Given the description of an element on the screen output the (x, y) to click on. 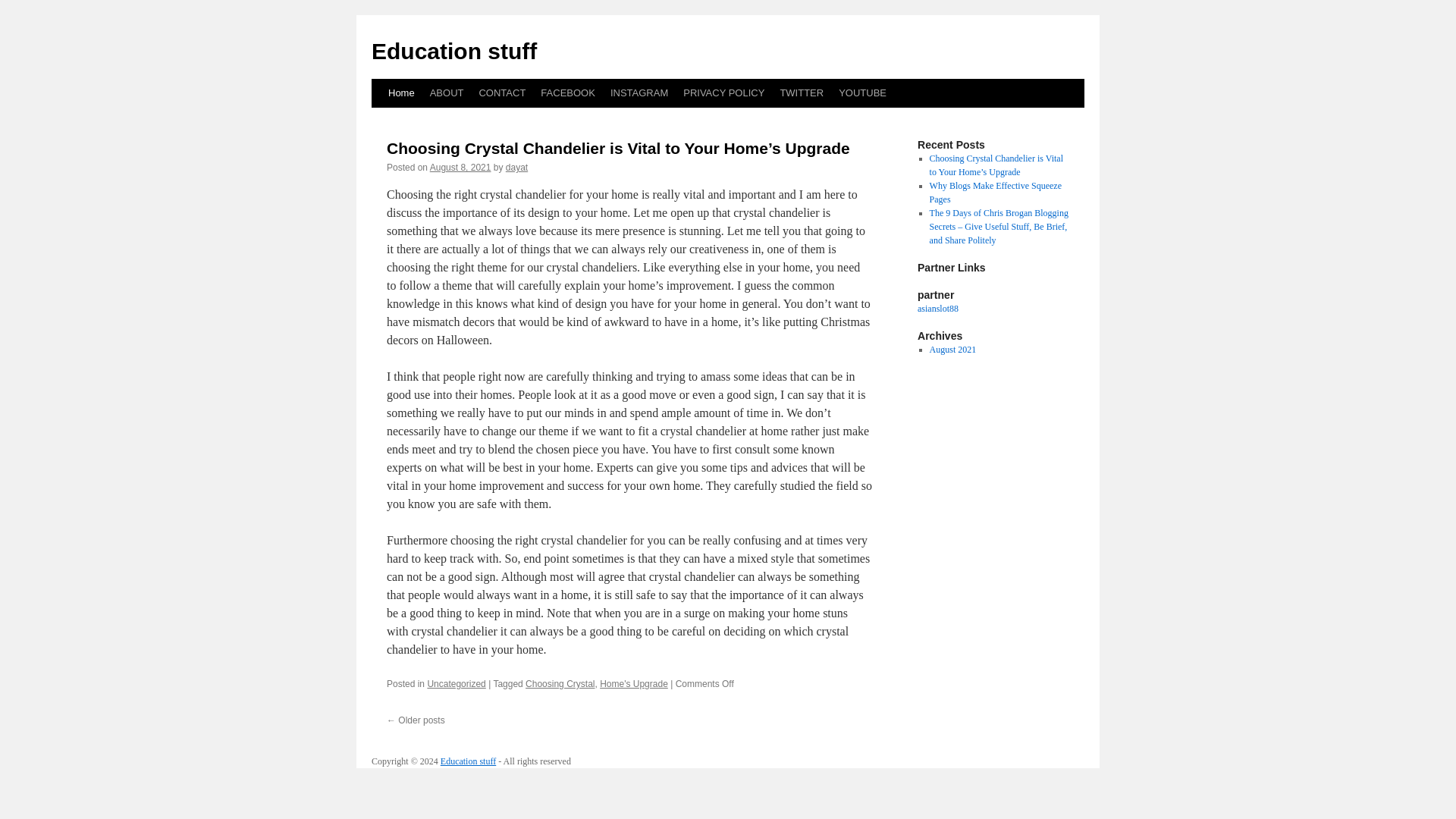
PRIVACY POLICY (723, 92)
FACEBOOK (567, 92)
ABOUT (446, 92)
FACEBOOK (567, 92)
August 8, 2021 (460, 167)
Choosing Crystal (559, 683)
12:58 am (460, 167)
TWITTER (801, 92)
CONTACT (501, 92)
Education stuff (454, 50)
August 2021 (953, 348)
INSTAGRAM (638, 92)
YOUTUBE (862, 92)
View all posts by dayat (516, 167)
TWITTER (801, 92)
